Given the description of an element on the screen output the (x, y) to click on. 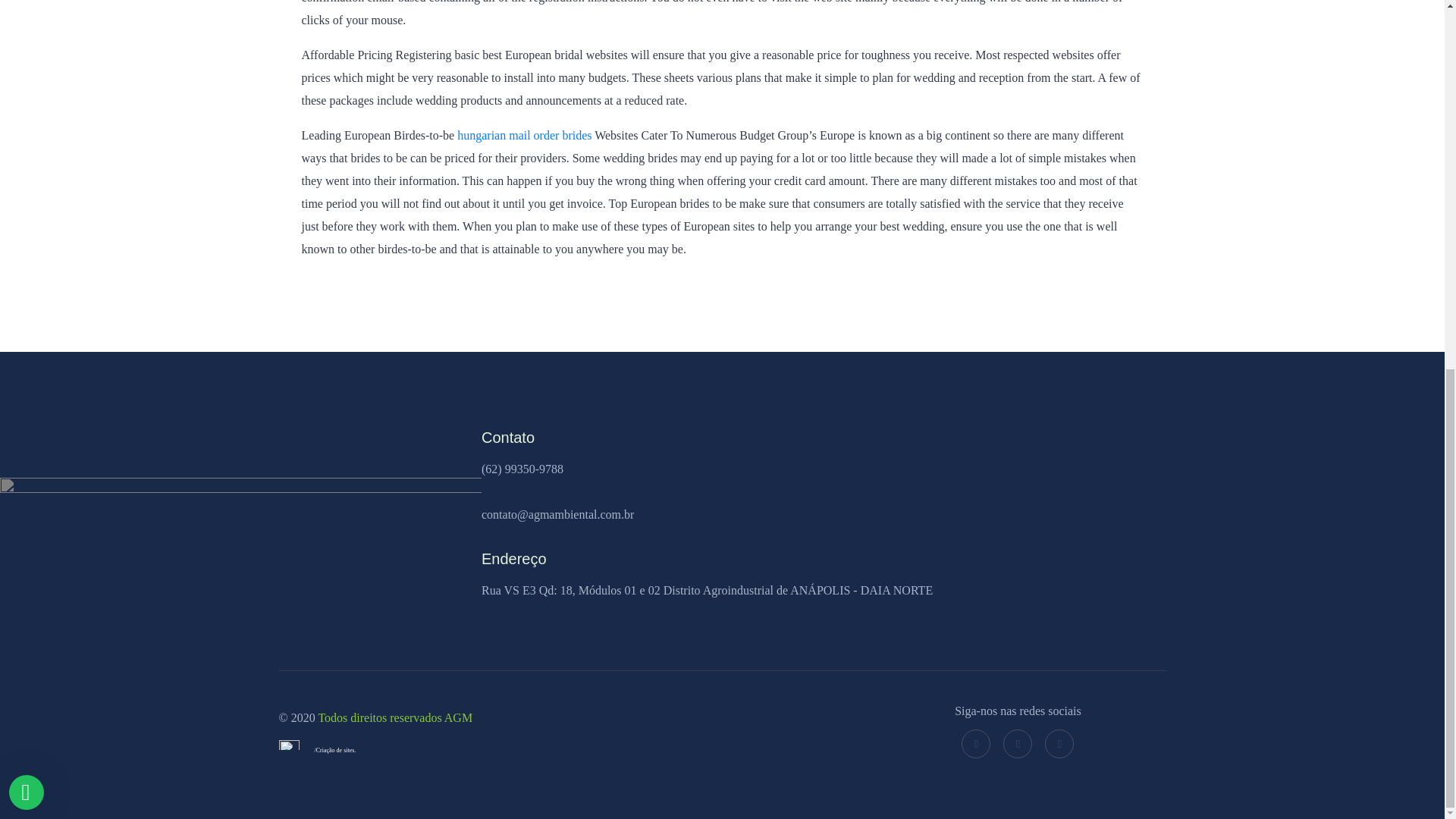
hungarian mail order brides (524, 134)
